Given the description of an element on the screen output the (x, y) to click on. 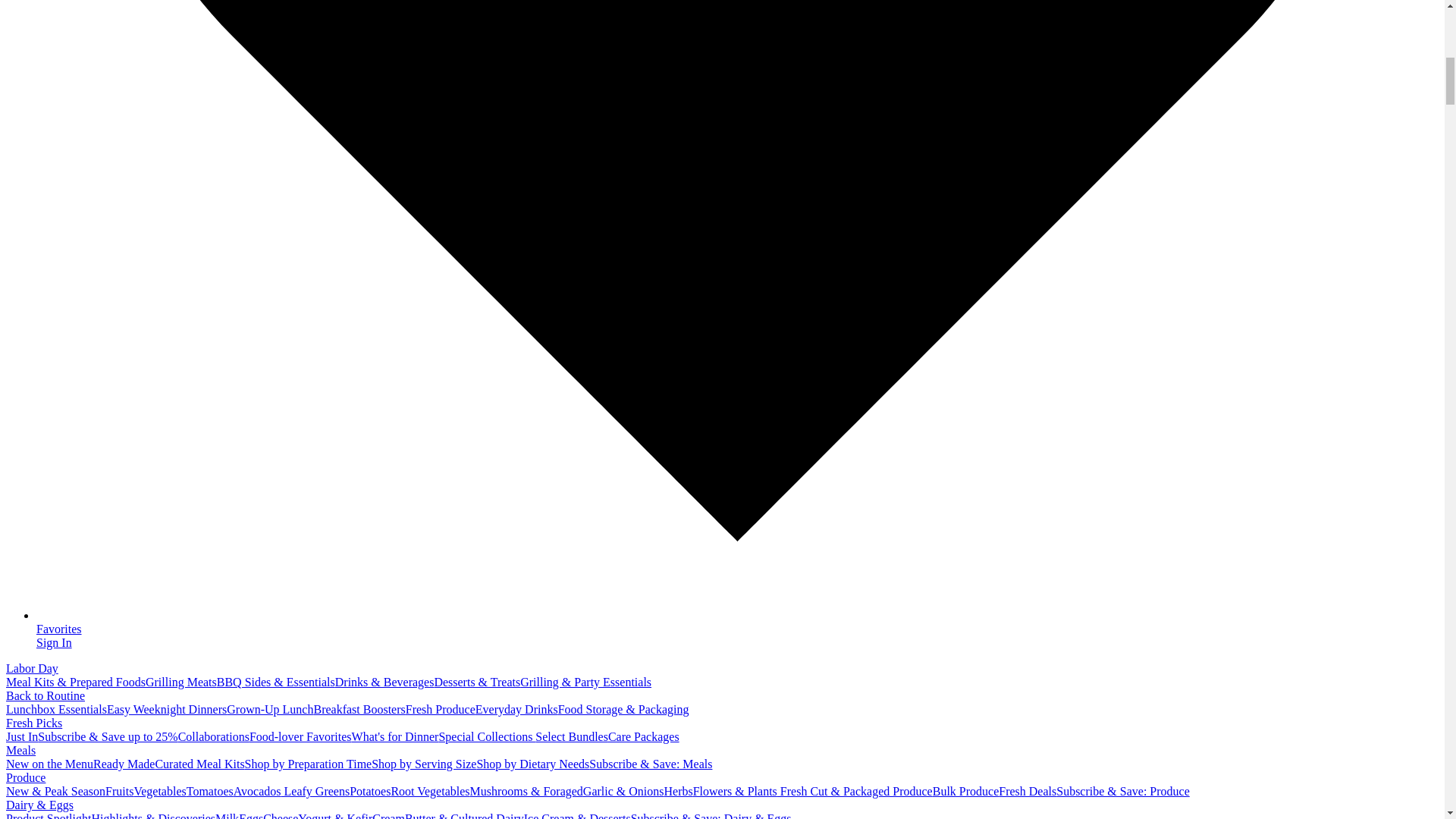
Sign In (53, 642)
Everyday Drinks (516, 708)
Lunchbox Essentials (55, 708)
Grilling Meats (180, 681)
New on the Menu (49, 763)
Ready Made (123, 763)
Special Collections (486, 736)
Care Packages (643, 736)
Easy Weeknight Dinners (166, 708)
Just In (21, 736)
